Given the description of an element on the screen output the (x, y) to click on. 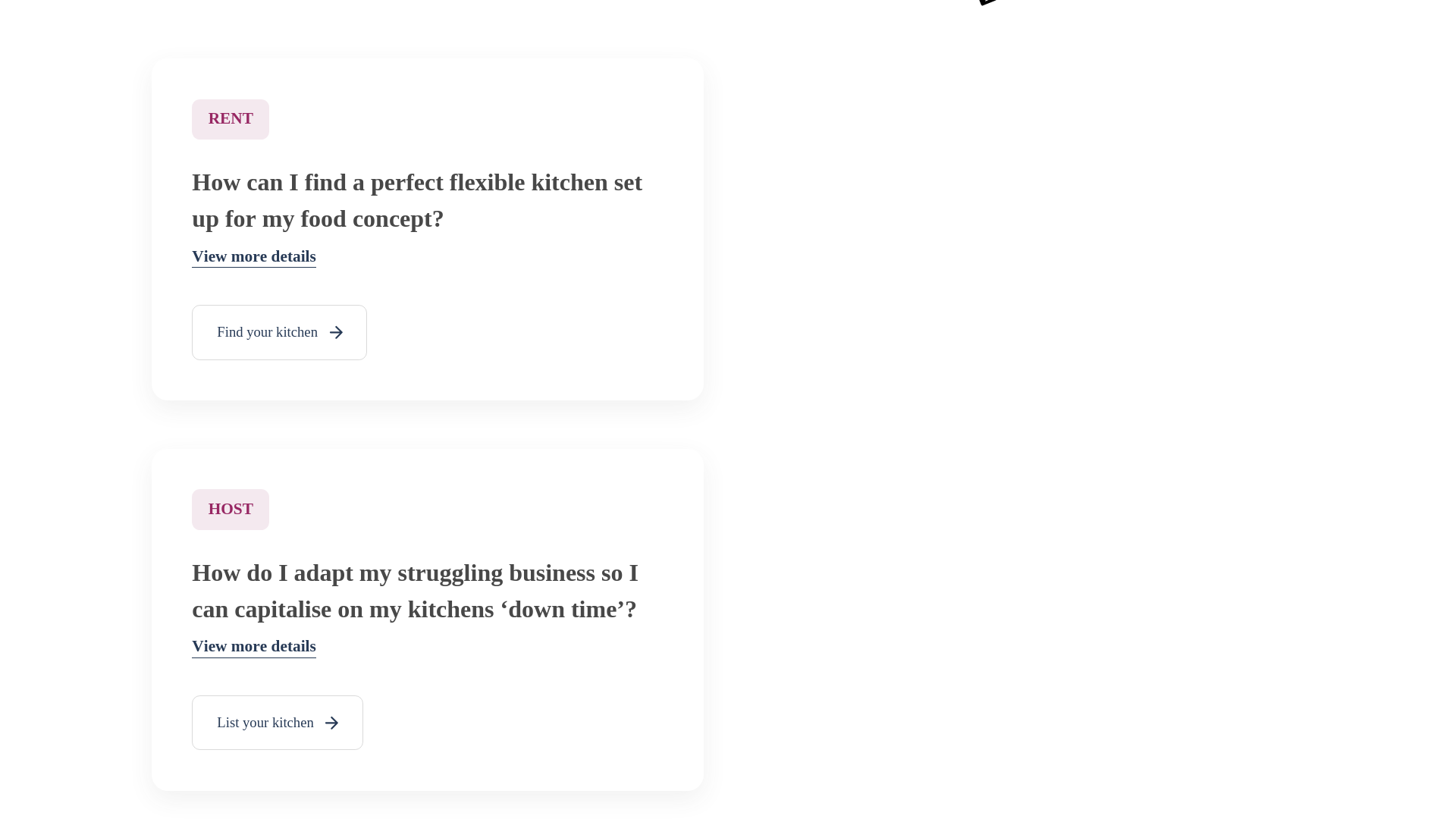
View more details (253, 648)
List your kitchen (277, 723)
Find your kitchen (279, 332)
View more details (253, 258)
